Given the description of an element on the screen output the (x, y) to click on. 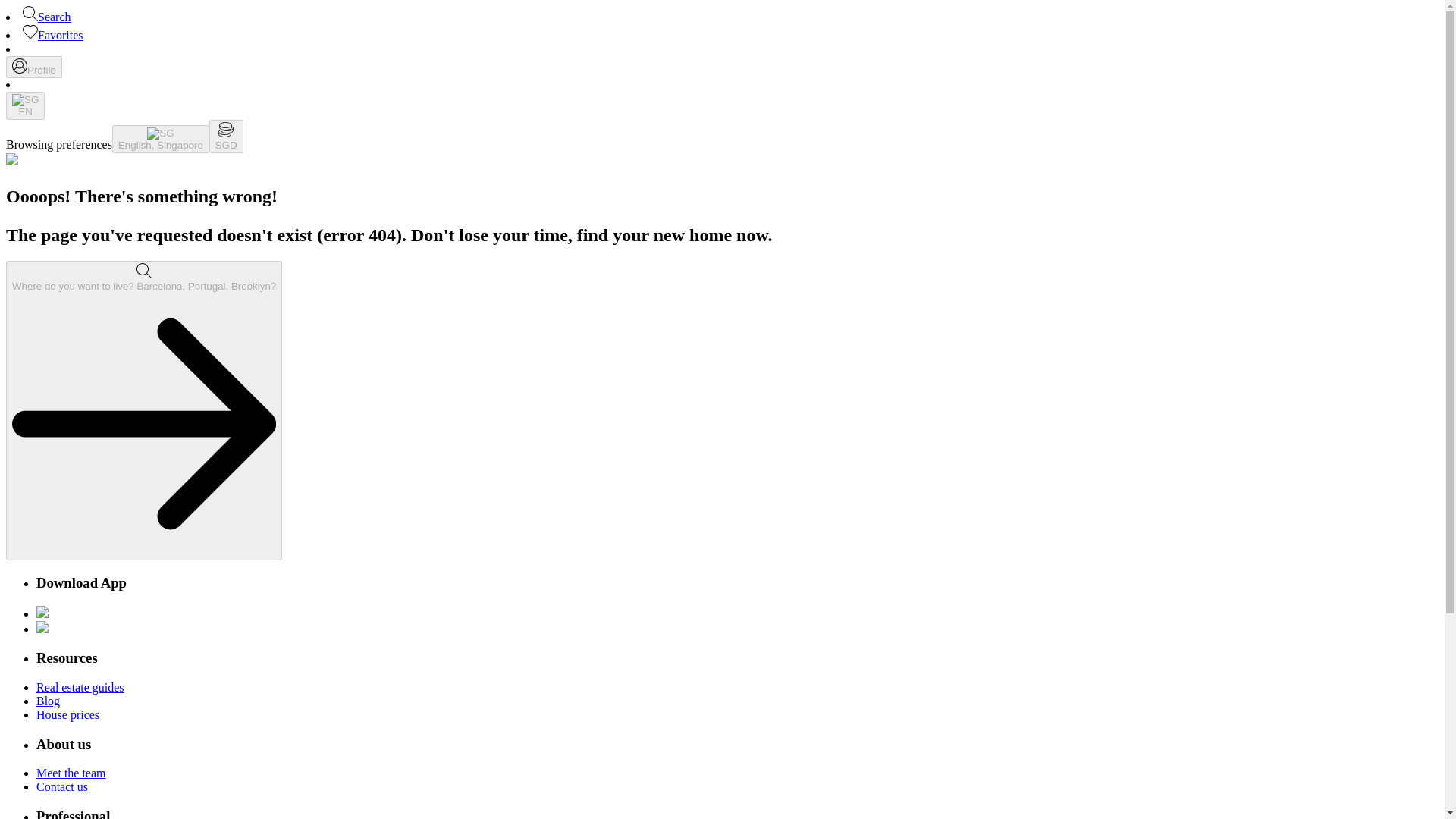
EN (25, 105)
Favorites (52, 34)
Where do you want to live? Barcelona, Portugal, Brooklyn? (143, 410)
Contact us (61, 786)
SGD (226, 136)
Meet the team (71, 772)
Search (47, 16)
Blog (47, 700)
House prices (67, 714)
English, Singapore (160, 139)
